Given the description of an element on the screen output the (x, y) to click on. 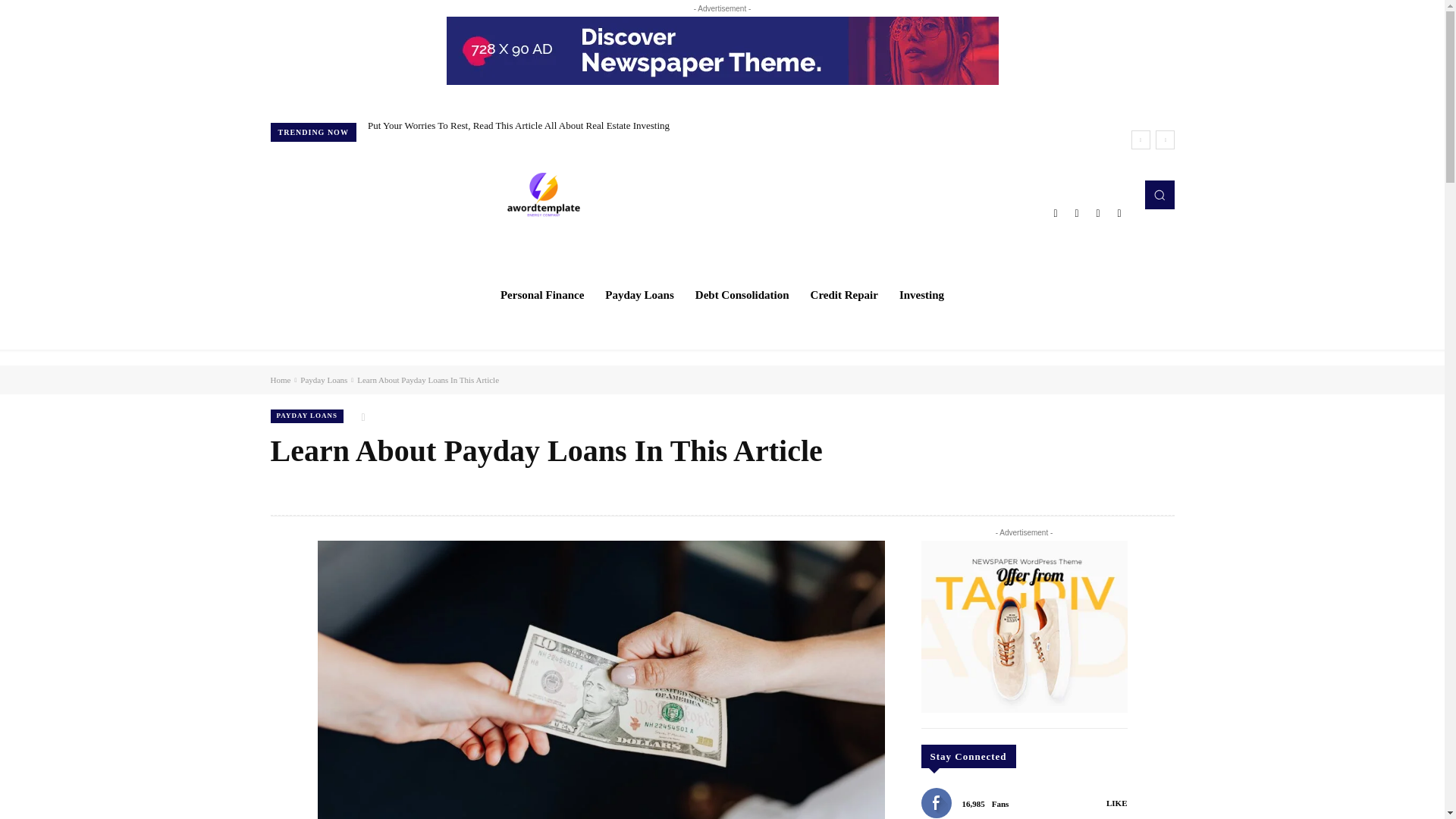
Payday Loans (639, 294)
Youtube (1118, 212)
Facebook (1055, 212)
Credit Repair (843, 294)
Personal Finance (541, 294)
Debt Consolidation (741, 294)
Instagram (1076, 212)
Investing (921, 294)
Twitter (1097, 212)
